Given the description of an element on the screen output the (x, y) to click on. 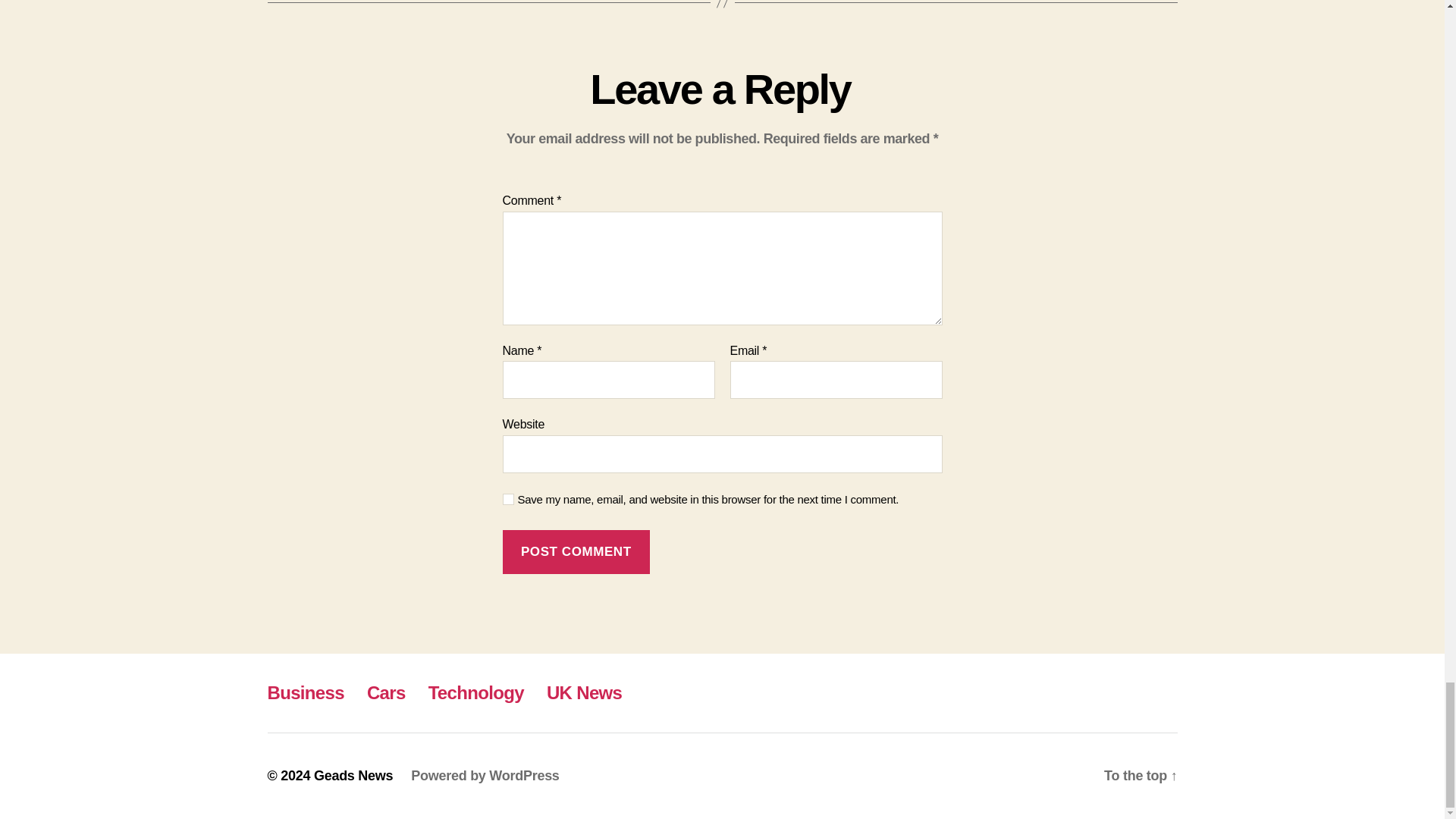
yes (507, 499)
UK News (584, 692)
Business (304, 692)
Technology (476, 692)
Post Comment (575, 551)
Post Comment (575, 551)
Cars (386, 692)
